Given the description of an element on the screen output the (x, y) to click on. 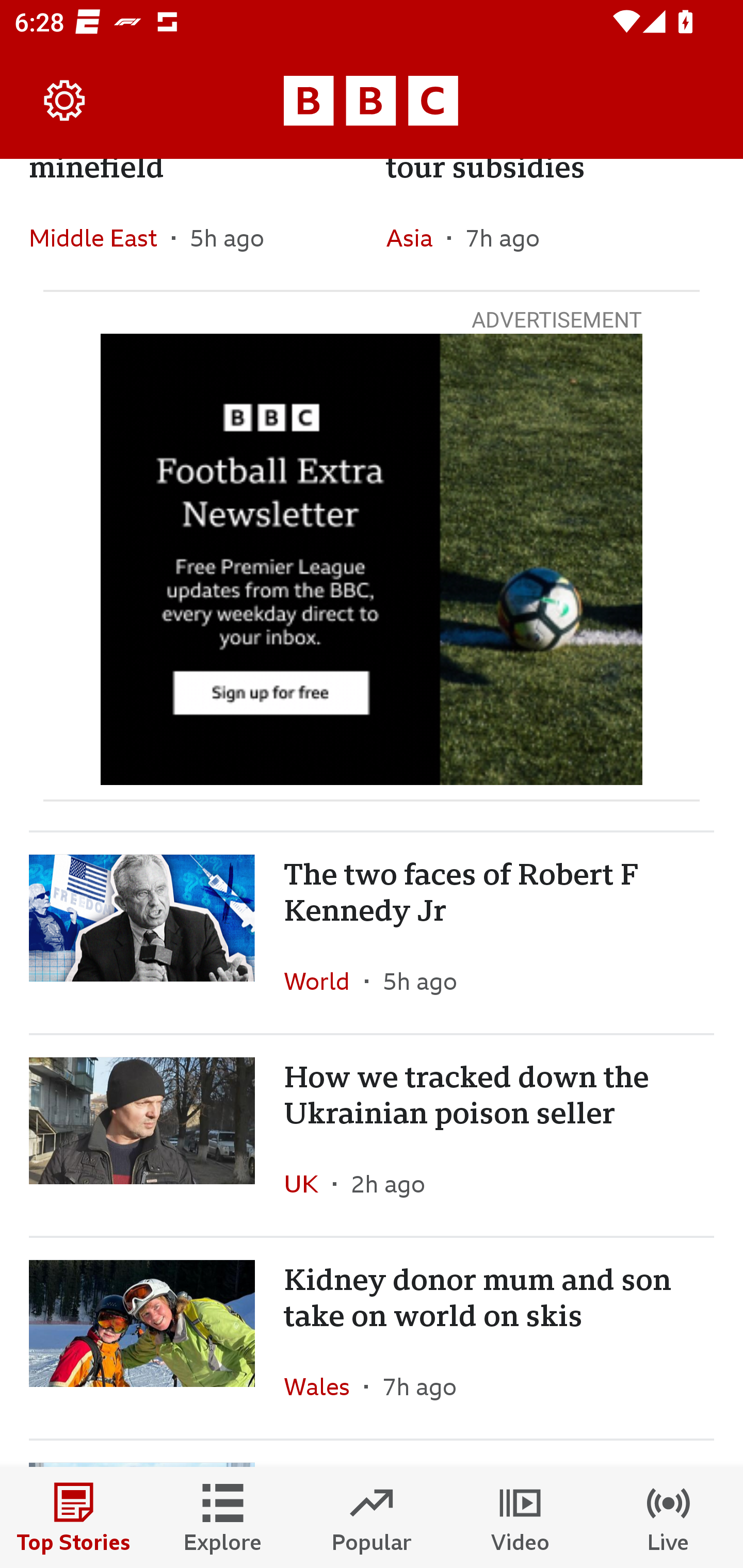
Settings (64, 100)
Middle East In the section Middle East (99, 237)
Asia In the section Asia (416, 237)
World In the section World (323, 980)
UK In the section UK (307, 1183)
Wales In the section Wales (323, 1385)
Explore (222, 1517)
Popular (371, 1517)
Video (519, 1517)
Live (668, 1517)
